Given the description of an element on the screen output the (x, y) to click on. 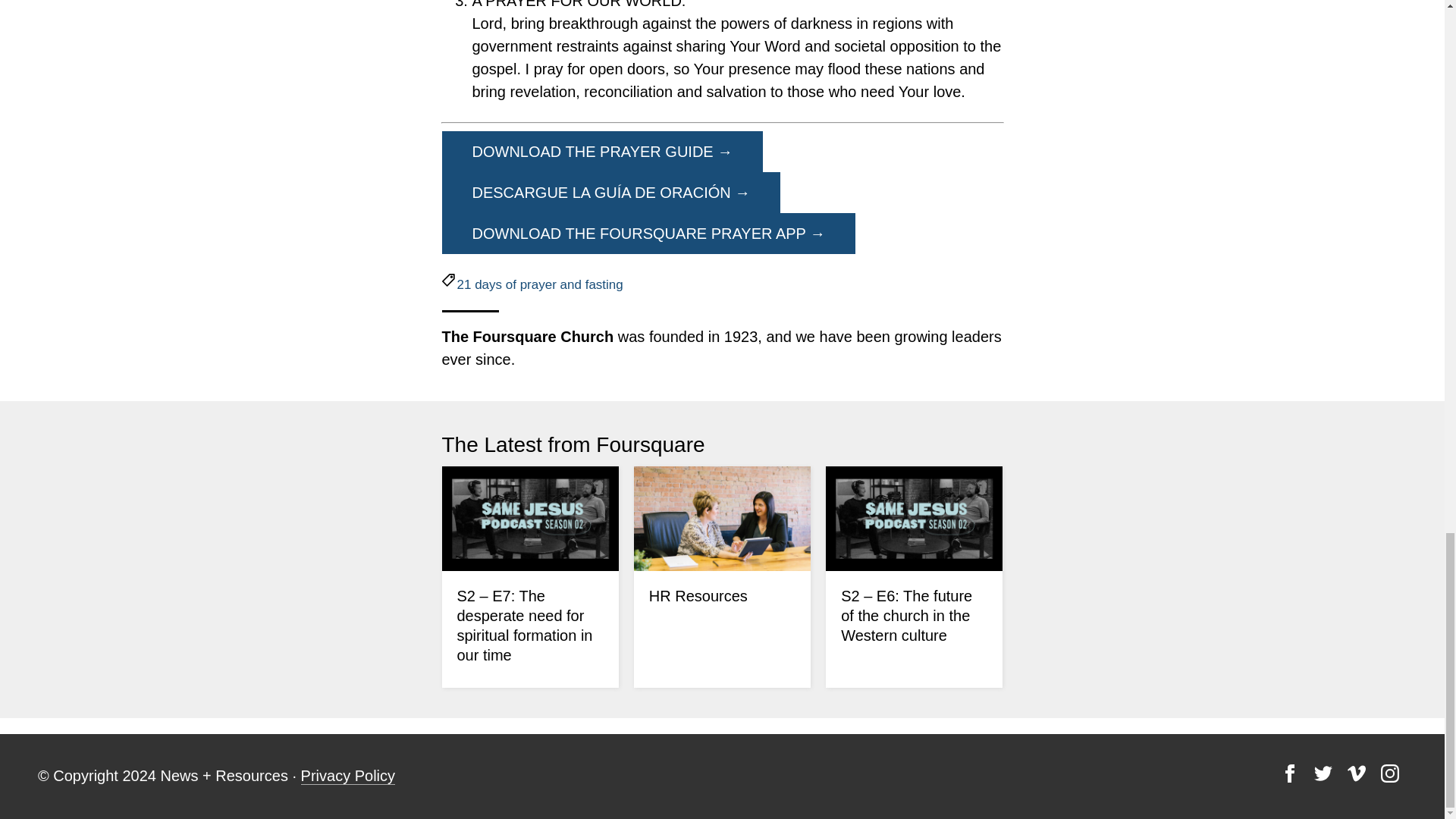
Posts by The Foursquare Church (526, 336)
HR Resources (698, 596)
The Foursquare Church (526, 336)
Privacy Policy (347, 775)
21 days of prayer and fasting (540, 283)
